Given the description of an element on the screen output the (x, y) to click on. 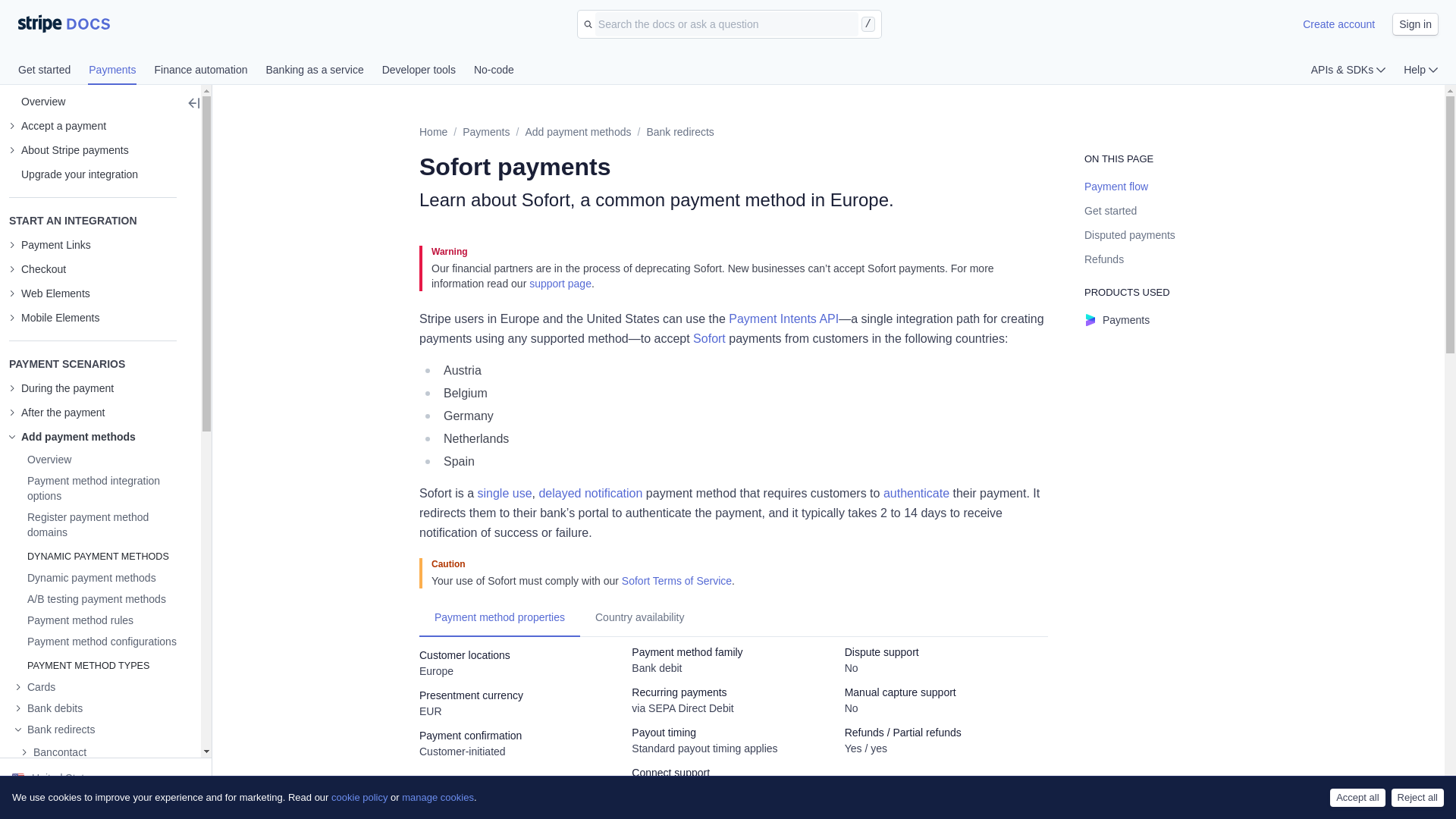
Card payments with Stripe (34, 686)
During the payment (60, 387)
Payments (121, 71)
After the payment (56, 412)
Mobile SDKs (54, 317)
Upgrade your integration (73, 174)
Mobile Elements (54, 317)
Web Elements (49, 293)
